Given the description of an element on the screen output the (x, y) to click on. 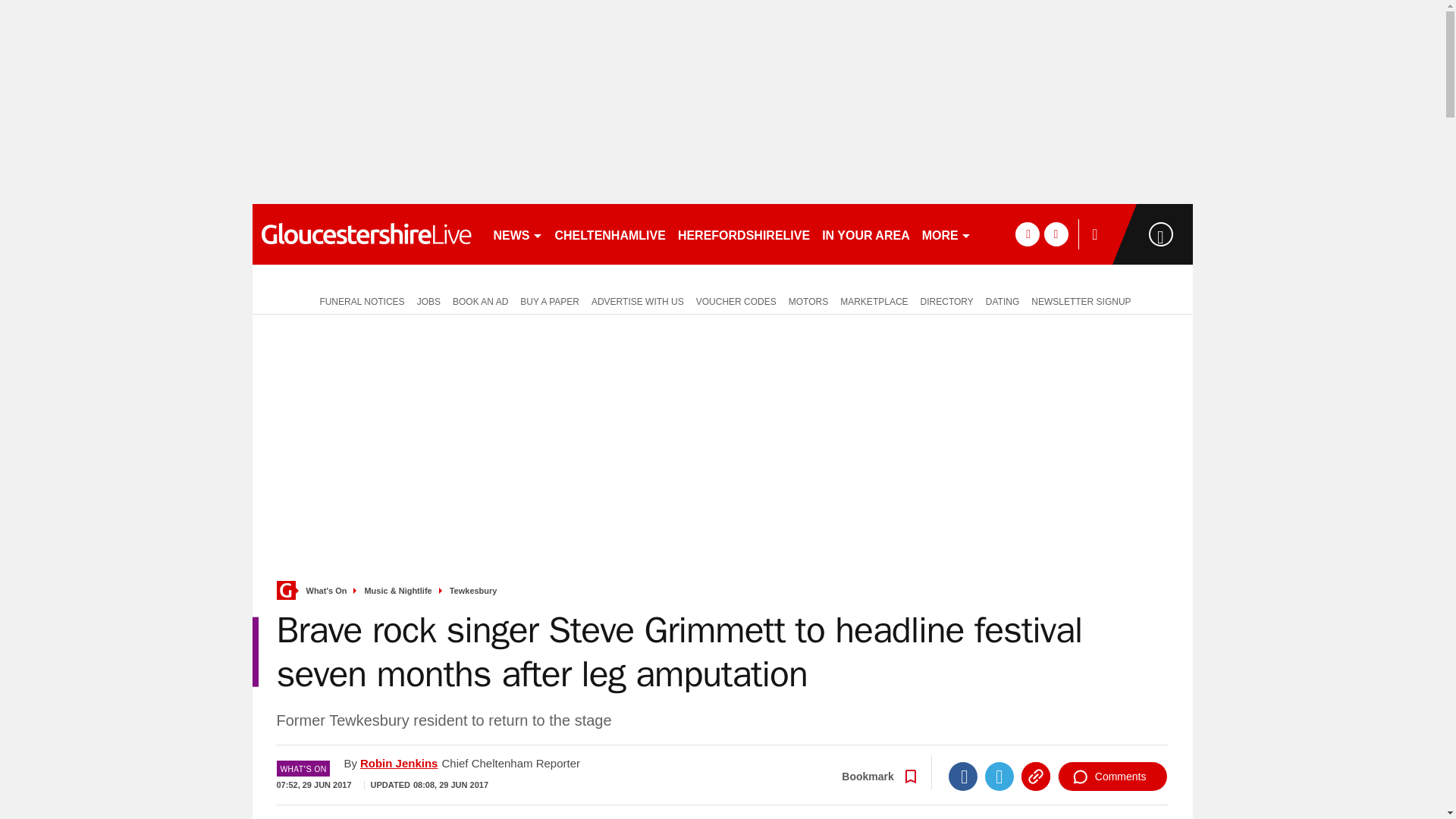
MORE (945, 233)
twitter (1055, 233)
Comments (1112, 776)
NEWS (517, 233)
CHELTENHAMLIVE (609, 233)
gloucestershirelive (365, 233)
Twitter (999, 776)
IN YOUR AREA (865, 233)
facebook (1026, 233)
HEREFORDSHIRELIVE (743, 233)
